Given the description of an element on the screen output the (x, y) to click on. 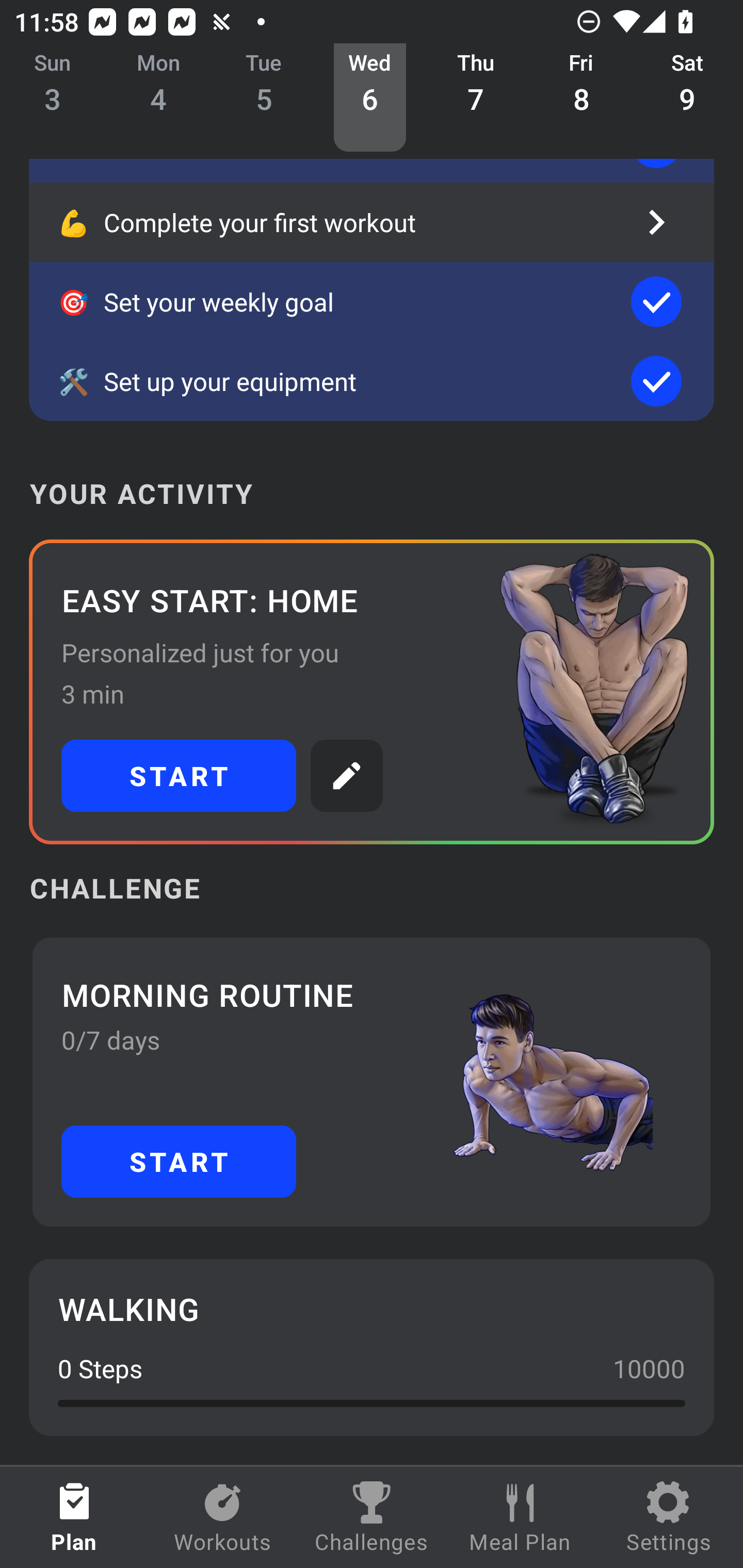
Sun 3 (52, 97)
Mon 4 (158, 97)
Tue 5 (264, 97)
Wed 6 (369, 97)
Thu 7 (475, 97)
Fri 8 (581, 97)
Sat 9 (687, 97)
💪 Complete your first workout (371, 221)
START (178, 776)
MORNING ROUTINE 0/7 days START (371, 1082)
START (178, 1161)
WALKING 0 Steps 10000 0.0 (371, 1347)
 Workouts  (222, 1517)
 Challenges  (371, 1517)
 Meal Plan  (519, 1517)
 Settings  (668, 1517)
